Given the description of an element on the screen output the (x, y) to click on. 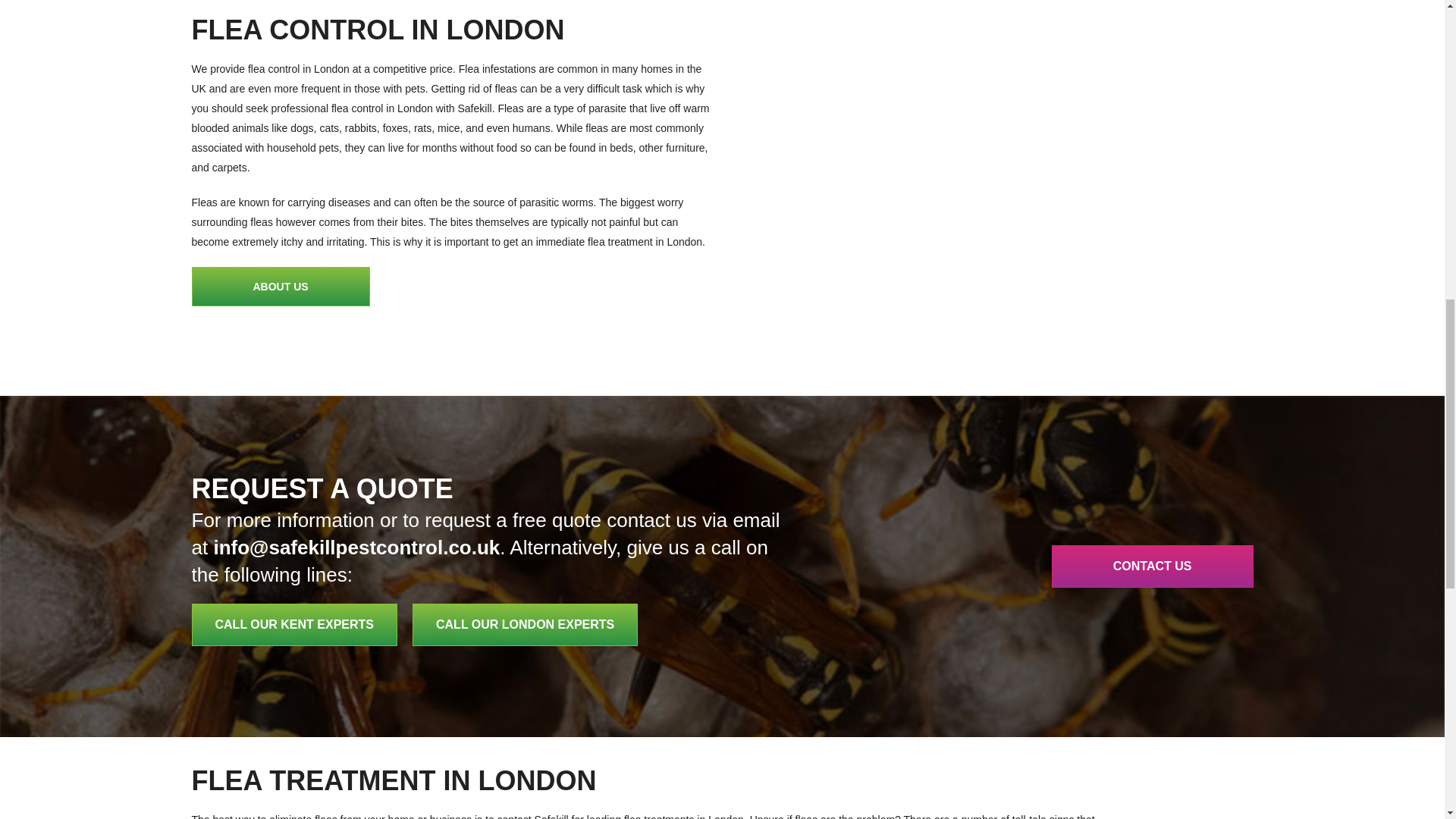
Call Us Today (293, 624)
Contact Us (1152, 566)
About Us (279, 286)
Call Us Today (524, 624)
